Given the description of an element on the screen output the (x, y) to click on. 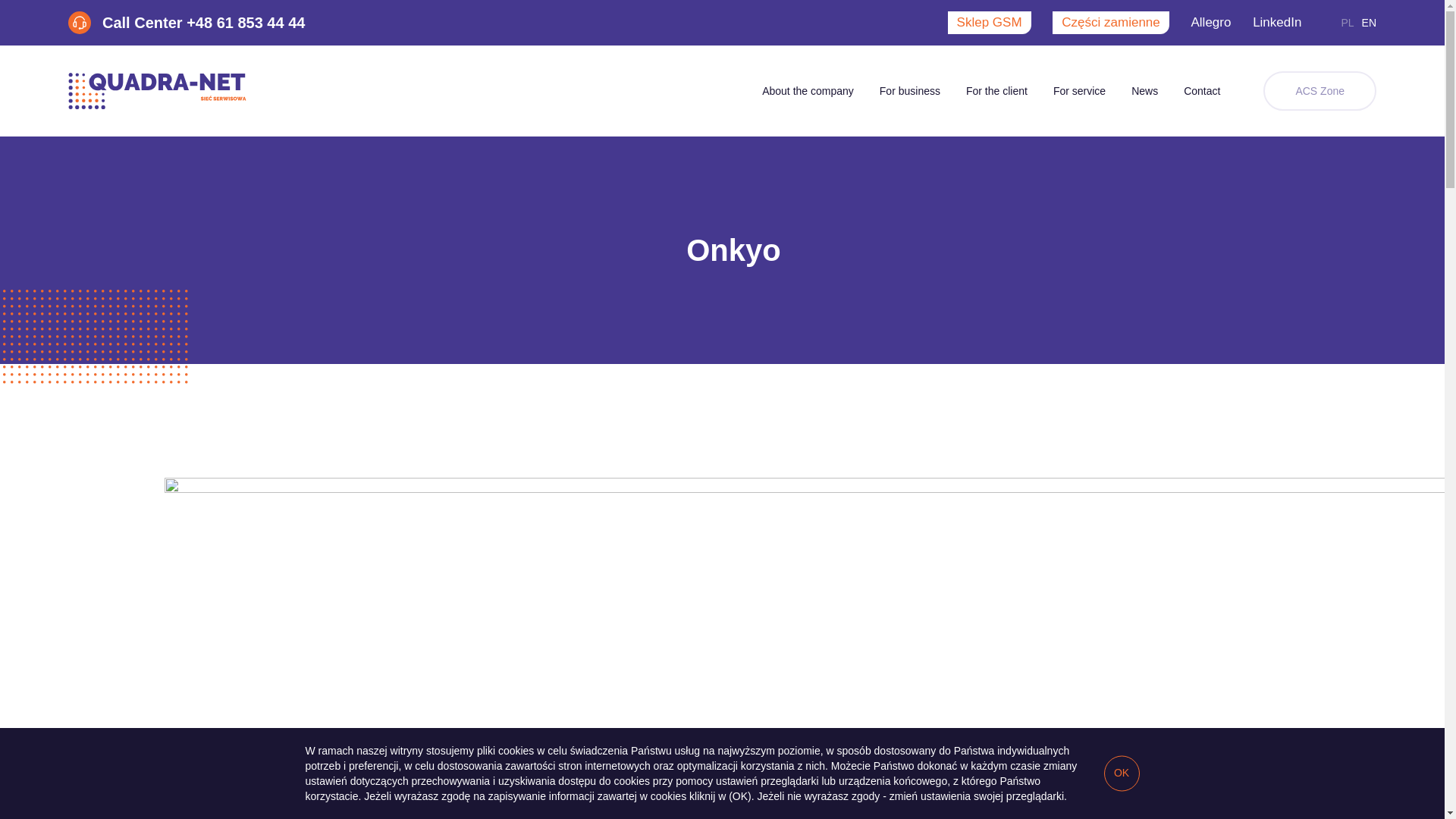
EN (1368, 22)
Sklep GSM (988, 22)
LinkedIn (1276, 22)
For the client (997, 90)
ACS Zone (1319, 90)
PL (1347, 22)
For service (1079, 90)
Contact (1201, 90)
About the company (807, 90)
News (1144, 90)
Allegro (1210, 22)
For business (909, 90)
